Given the description of an element on the screen output the (x, y) to click on. 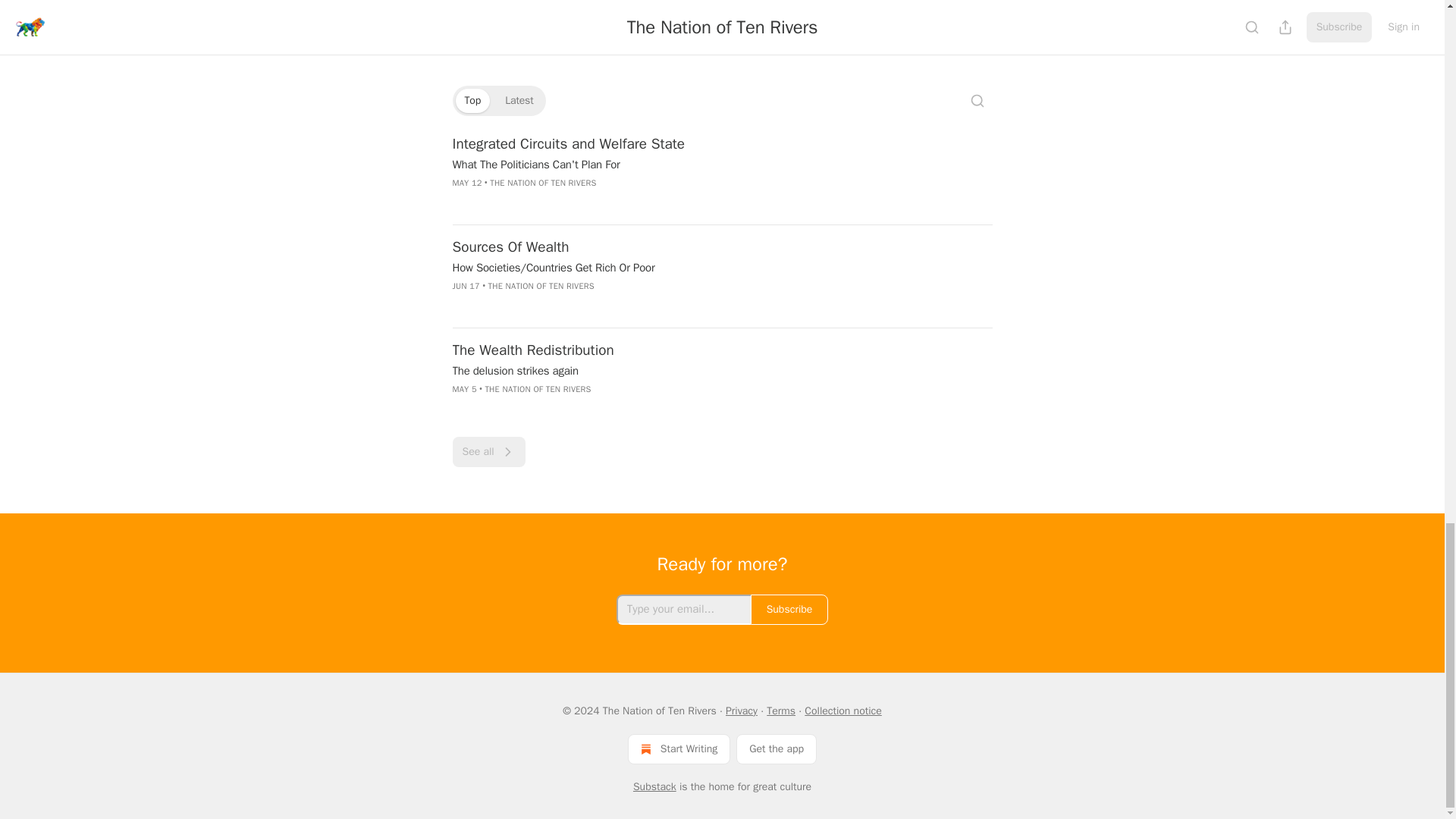
Latest (518, 100)
Top (471, 100)
Integrated Circuits and Welfare State (651, 143)
